Given the description of an element on the screen output the (x, y) to click on. 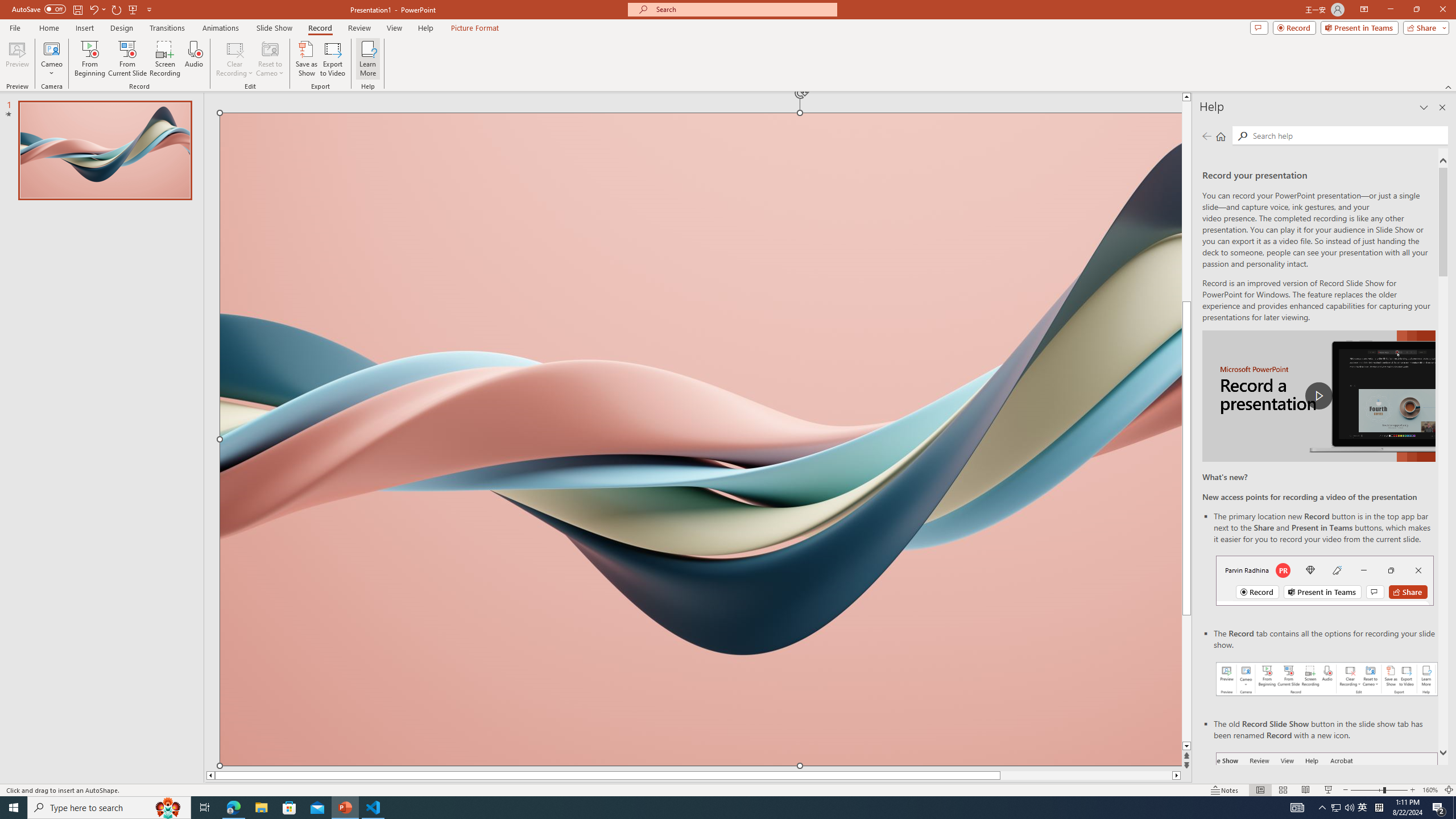
Restore Down (1416, 9)
Close (1442, 9)
Previous page (1206, 136)
Page down (1186, 678)
Zoom Out (1367, 790)
Page up (1186, 201)
Record your presentations screenshot one (1326, 678)
Comments (1259, 27)
Search (1347, 135)
Zoom (1379, 790)
Picture Format (475, 28)
Animations (220, 28)
Reset to Cameo (269, 58)
Line down (1186, 746)
